Given the description of an element on the screen output the (x, y) to click on. 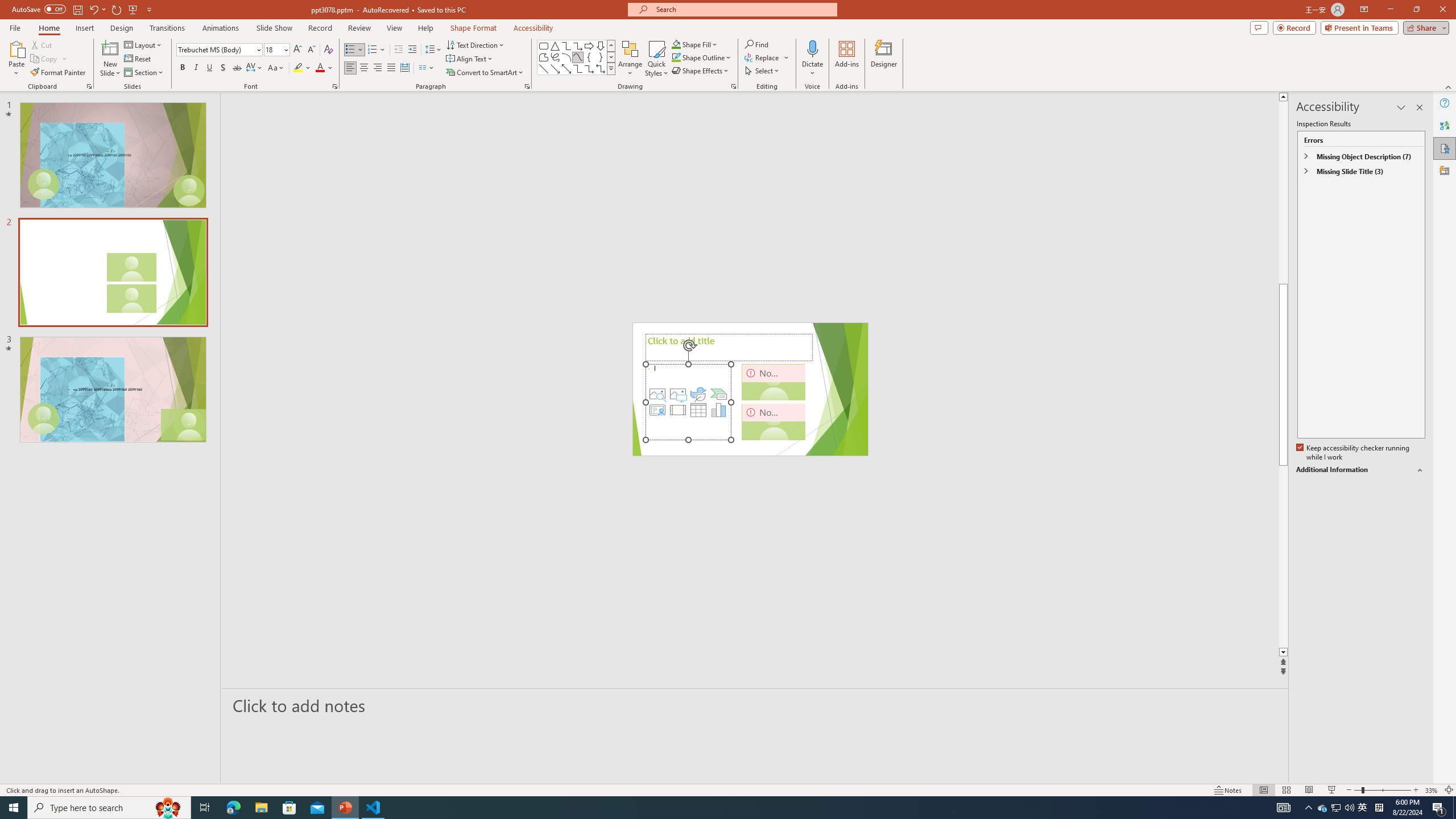
Additional Information (1360, 469)
Insert Table (697, 409)
